Given the description of an element on the screen output the (x, y) to click on. 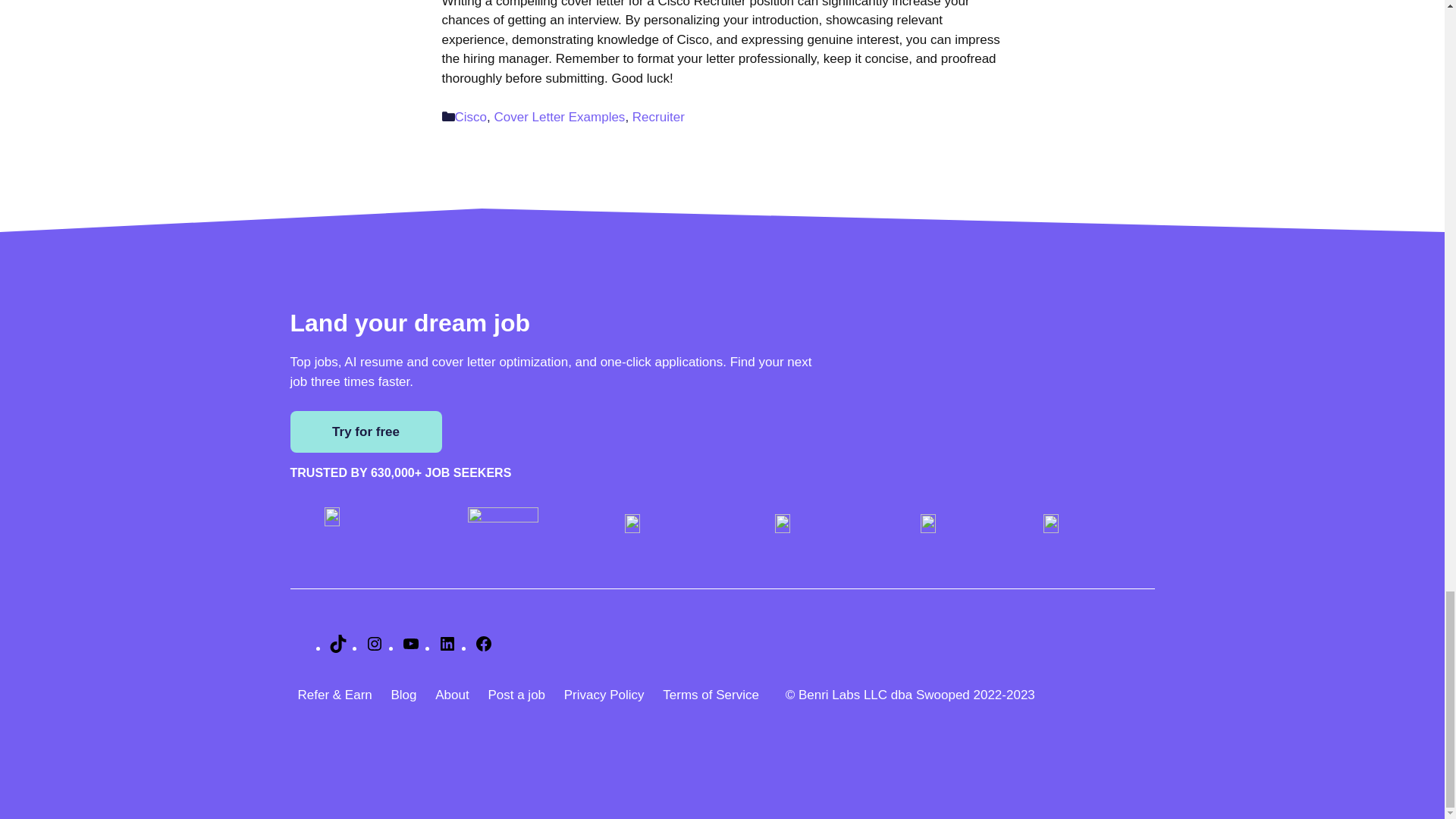
Privacy Policy (604, 702)
LinkedIn (447, 648)
Cisco (470, 116)
Terms of Service (721, 702)
Facebook (483, 648)
Post a job (515, 702)
About (451, 702)
TikTok (338, 648)
Try for free (365, 432)
YouTube (410, 648)
